Given the description of an element on the screen output the (x, y) to click on. 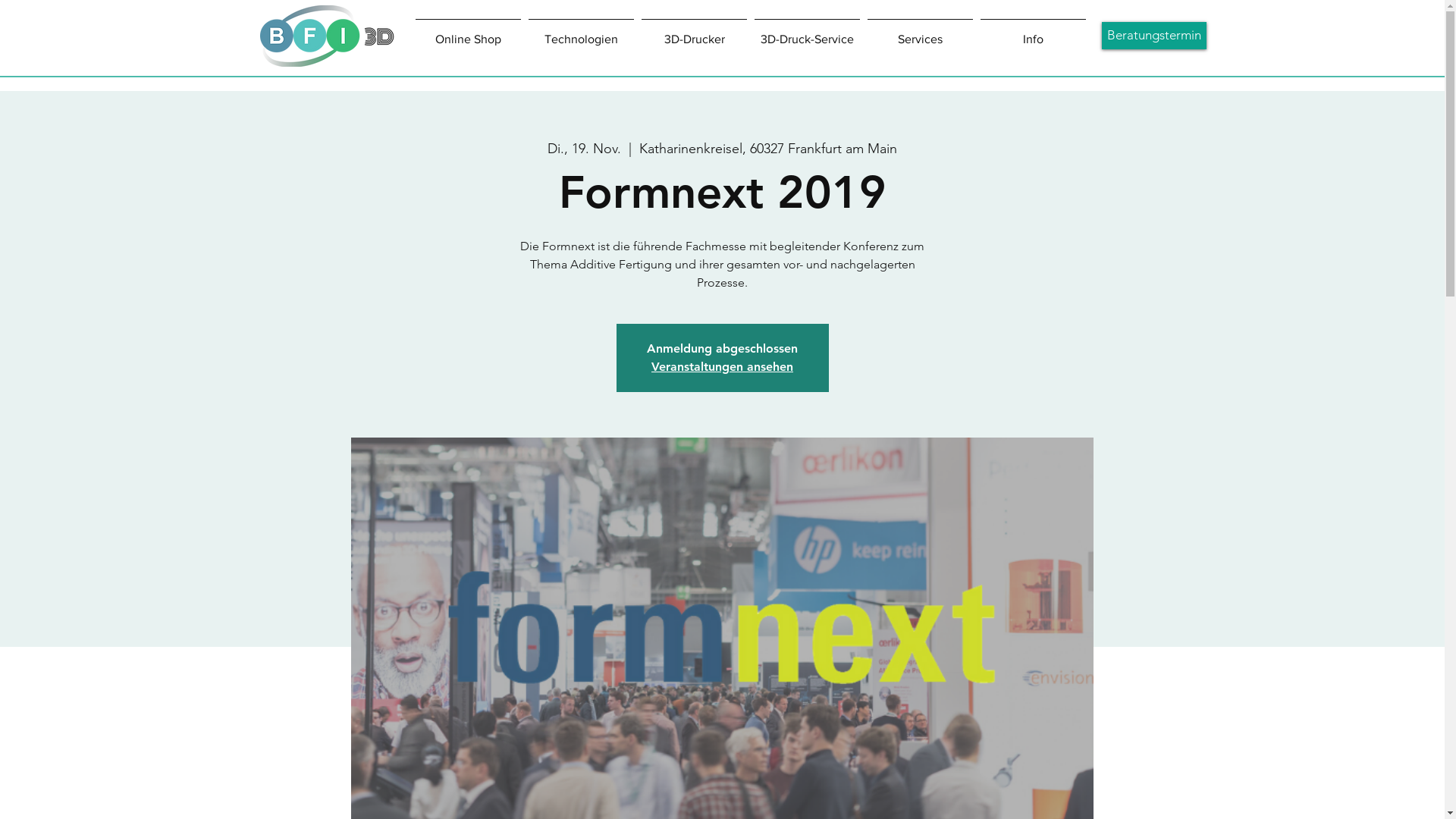
Veranstaltungen ansehen Element type: text (722, 366)
3D-Druck-Service Element type: text (806, 32)
Online Shop Element type: text (467, 32)
Beratungstermin Element type: text (1153, 35)
